Given the description of an element on the screen output the (x, y) to click on. 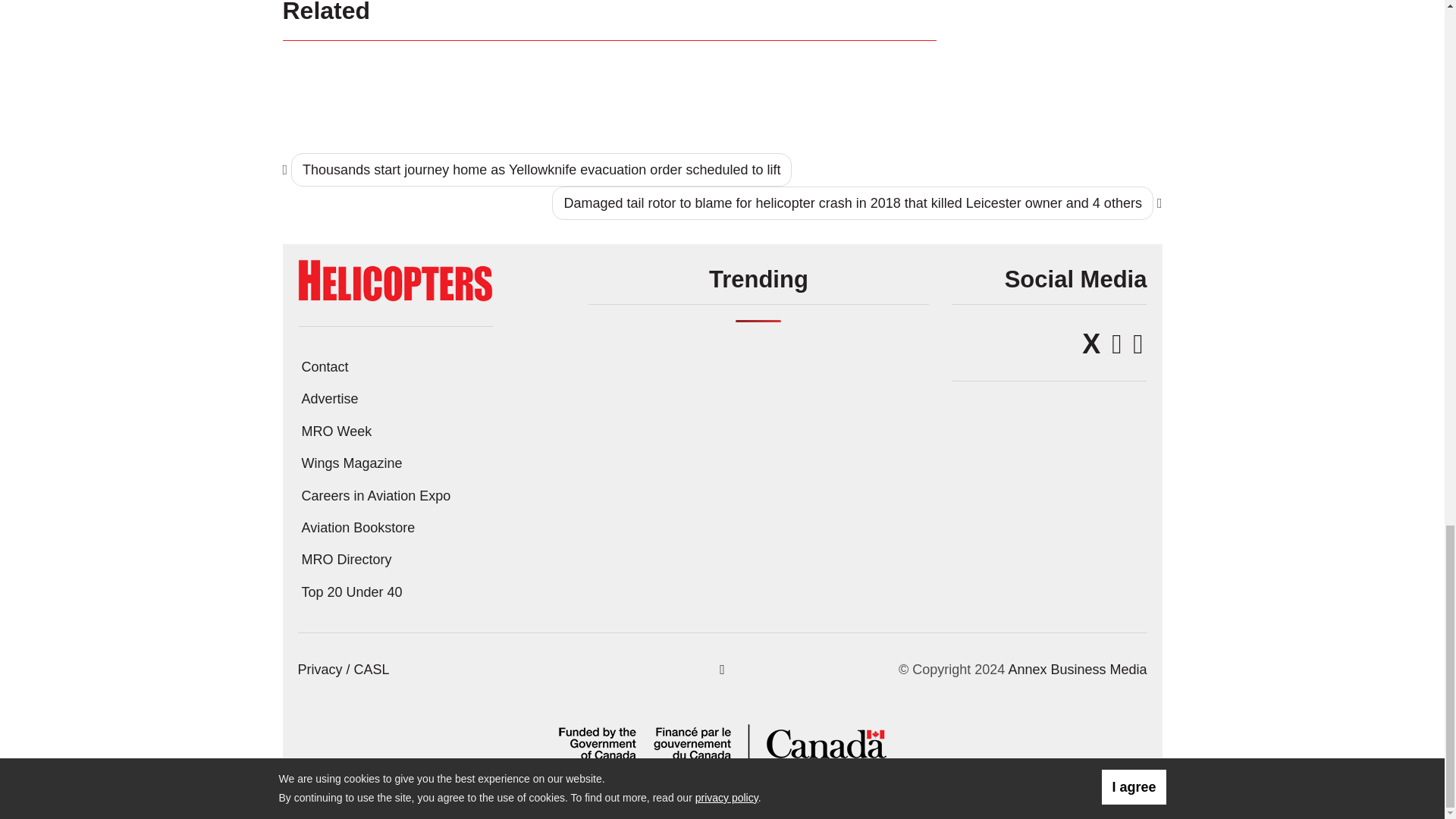
Annex Business Media (1077, 669)
Helicopters Magazine (395, 279)
